Given the description of an element on the screen output the (x, y) to click on. 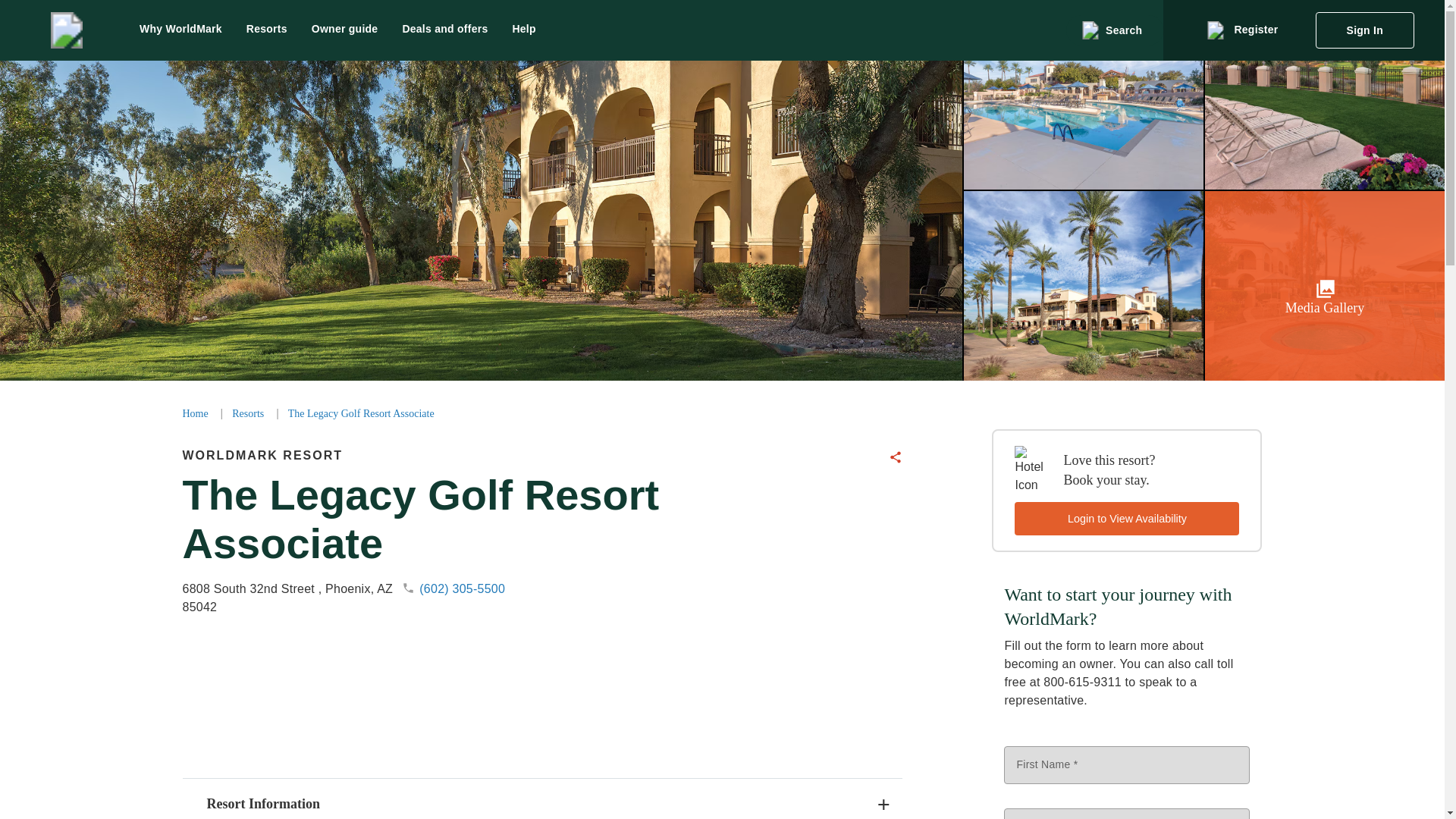
Why WorldMark (541, 798)
Reviews of this location (180, 30)
home (511, 679)
